Given the description of an element on the screen output the (x, y) to click on. 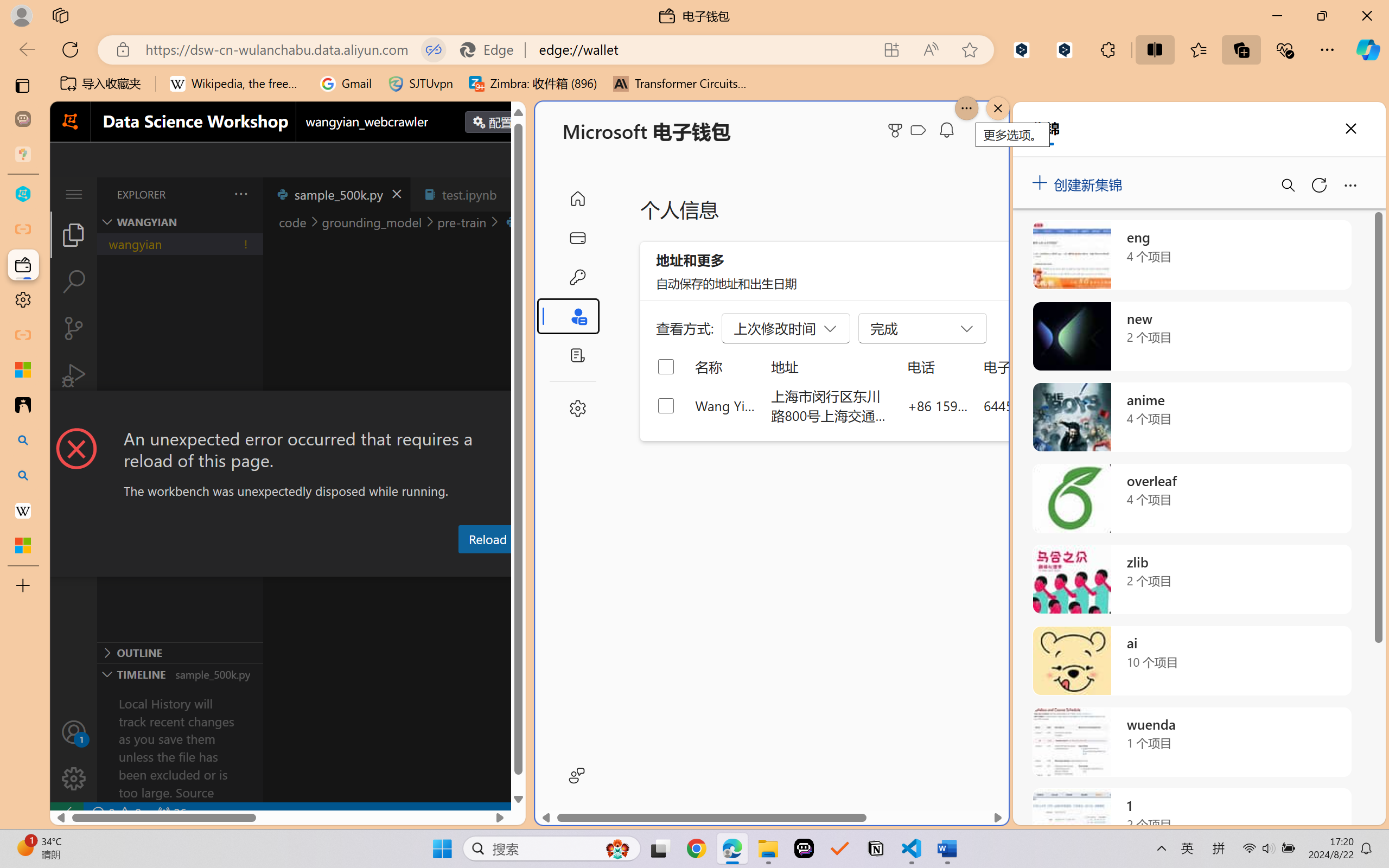
+86 159 0032 4640 (938, 405)
Class: actions-container (287, 410)
644553698@qq.com (1043, 405)
Outline Section (179, 652)
